Given the description of an element on the screen output the (x, y) to click on. 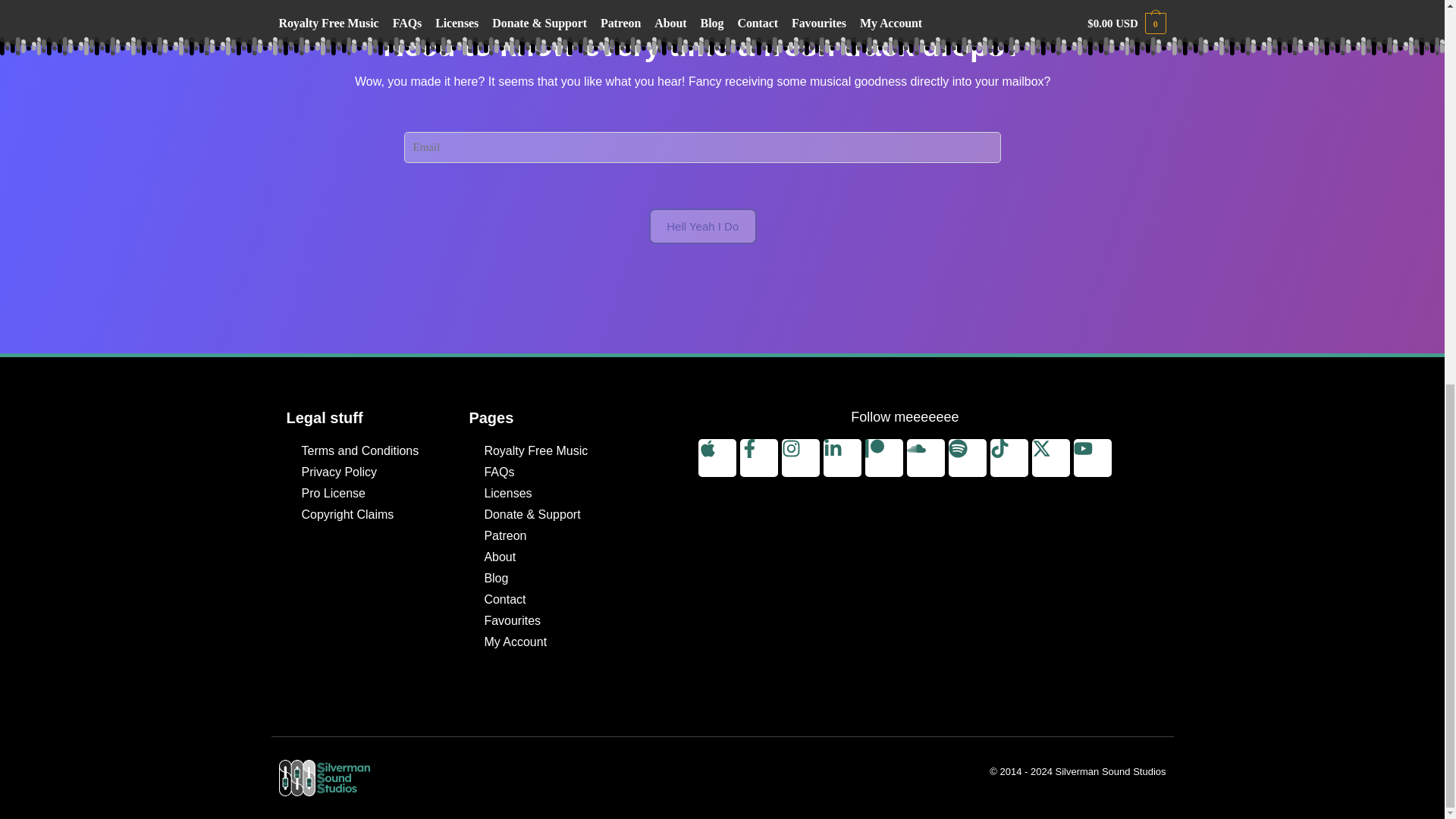
Royalty Free Music (548, 450)
Terms and Conditions (366, 450)
Licenses (548, 493)
Pro License (366, 493)
Copyright Claims (366, 514)
Hell Yeah I Do (701, 226)
Privacy Policy (366, 472)
FAQs (548, 472)
